Given the description of an element on the screen output the (x, y) to click on. 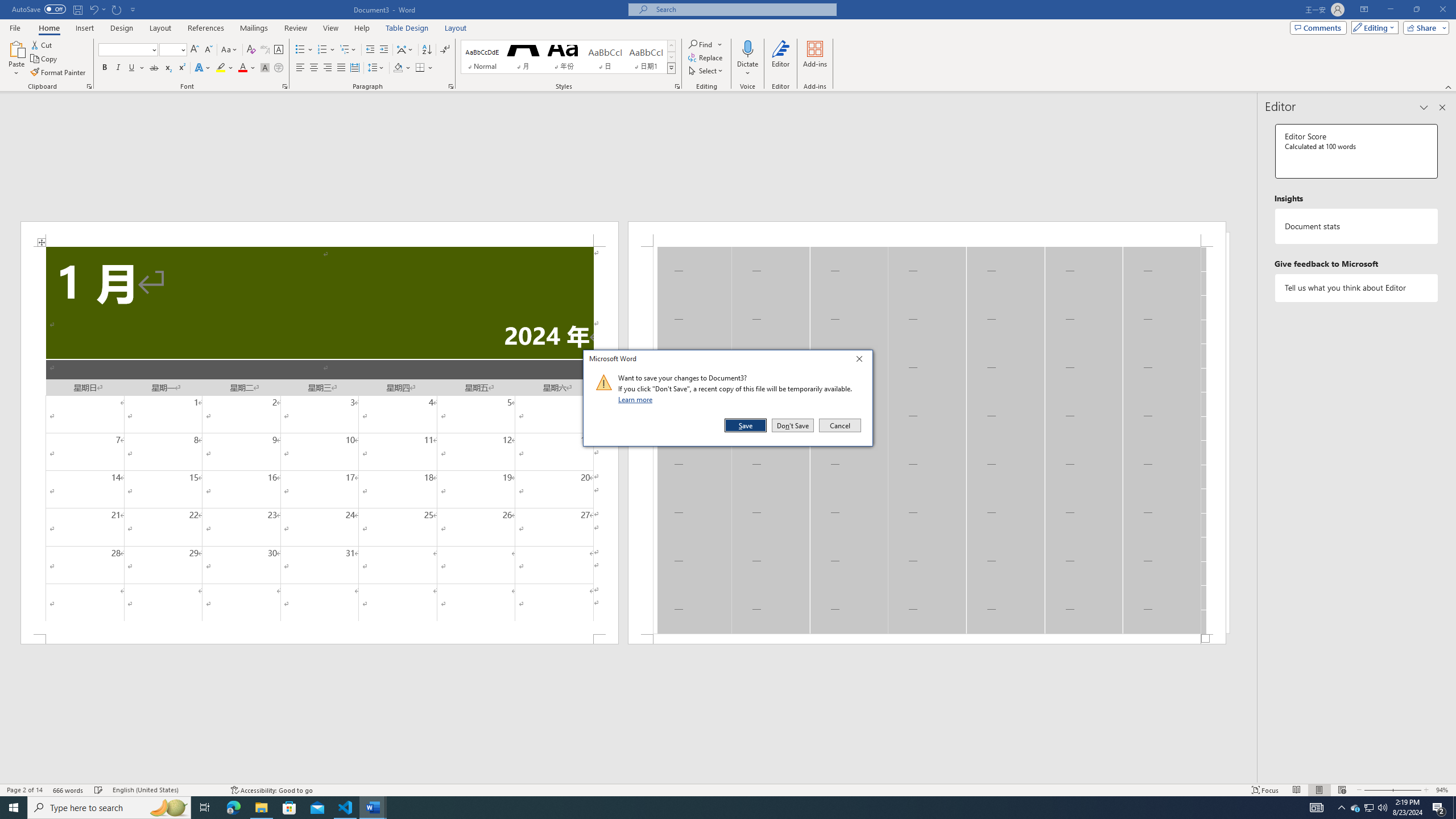
Editor (780, 58)
Multilevel List (347, 49)
Styles (670, 67)
Underline (131, 67)
Center (313, 67)
Close pane (1441, 107)
Superscript (180, 67)
Bold (104, 67)
Class: NetUIScrollBar (628, 778)
Row Down (670, 56)
Home (48, 28)
Borders (419, 67)
Text Effects and Typography (202, 67)
